Given the description of an element on the screen output the (x, y) to click on. 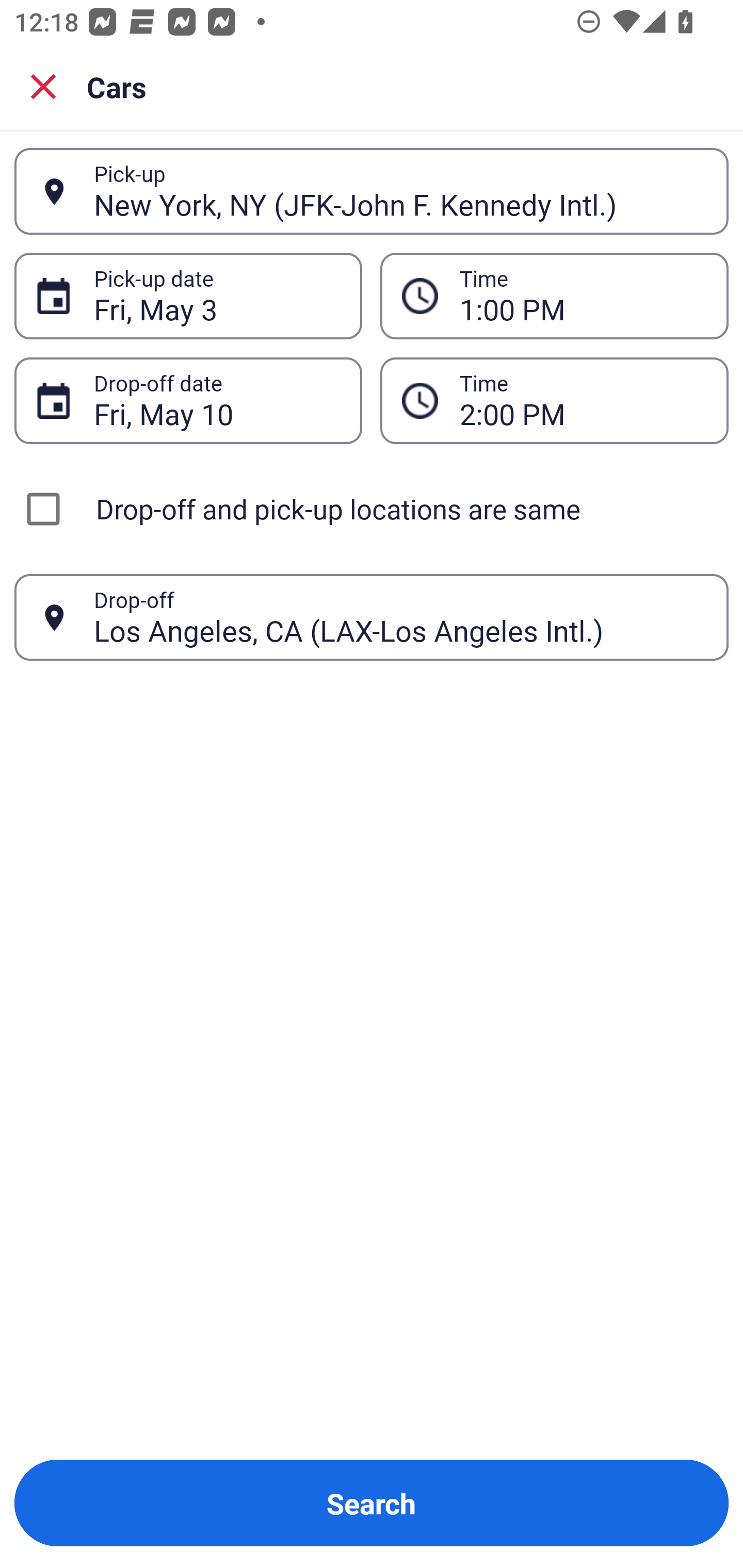
Close search screen (43, 86)
New York, NY (JFK-John F. Kennedy Intl.) Pick-up (371, 191)
New York, NY (JFK-John F. Kennedy Intl.) (399, 191)
Fri, May 3 Pick-up date (188, 295)
1:00 PM (554, 295)
Fri, May 3 (216, 296)
1:00 PM (582, 296)
Fri, May 10 Drop-off date (188, 400)
2:00 PM (554, 400)
Fri, May 10 (216, 400)
2:00 PM (582, 400)
Drop-off and pick-up locations are same (371, 508)
Los Angeles, CA (LAX-Los Angeles Intl.) Drop-off (371, 616)
Los Angeles, CA (LAX-Los Angeles Intl.) (399, 616)
Search Button Search (371, 1502)
